Given the description of an element on the screen output the (x, y) to click on. 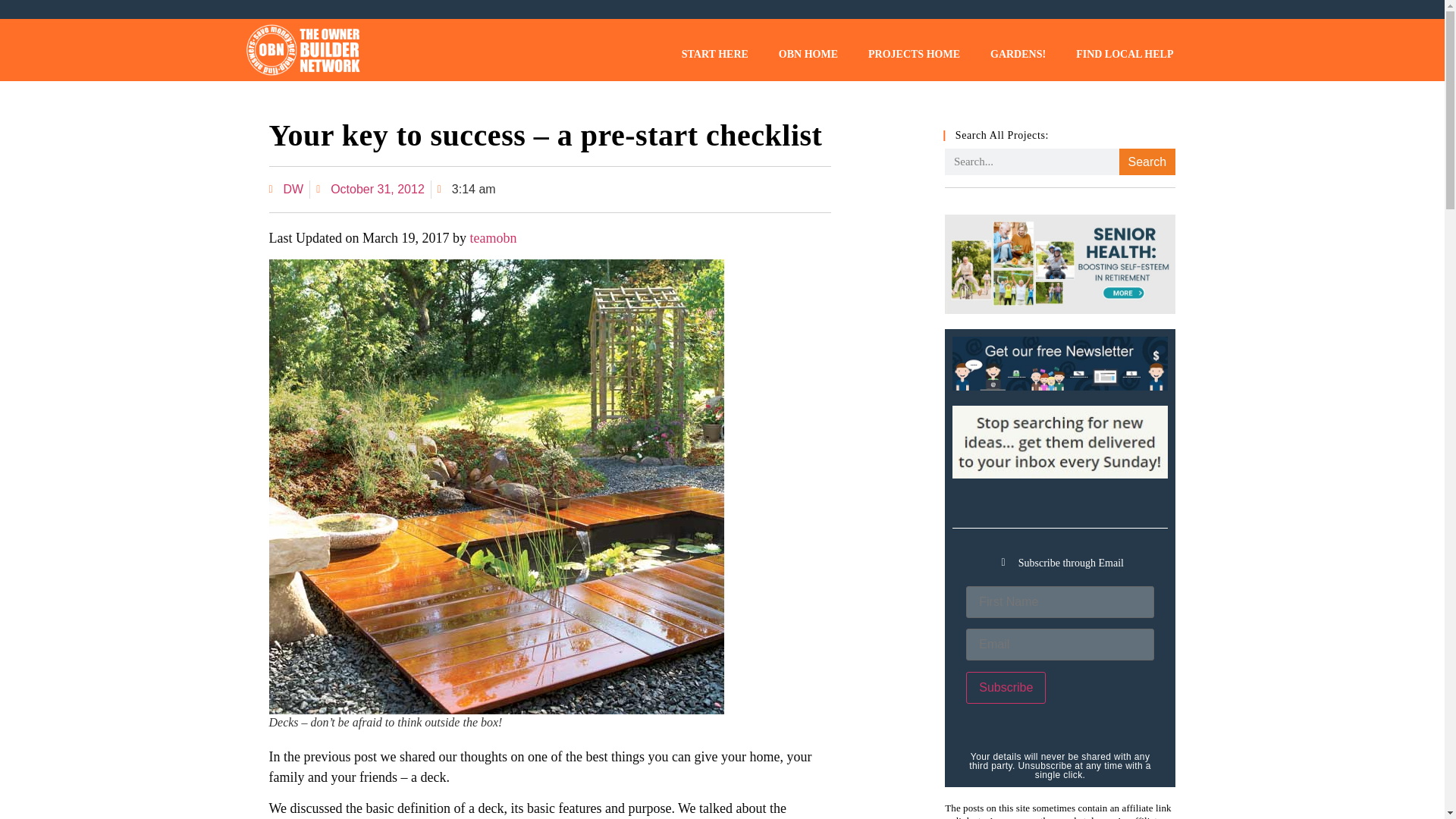
FIND LOCAL HELP (1124, 54)
October 31, 2012 (370, 189)
Search (1146, 161)
PROJECTS HOME (914, 54)
DW (284, 189)
GARDENS! (1018, 54)
teamobn (492, 237)
START HERE (714, 54)
OBN HOME (807, 54)
